Given the description of an element on the screen output the (x, y) to click on. 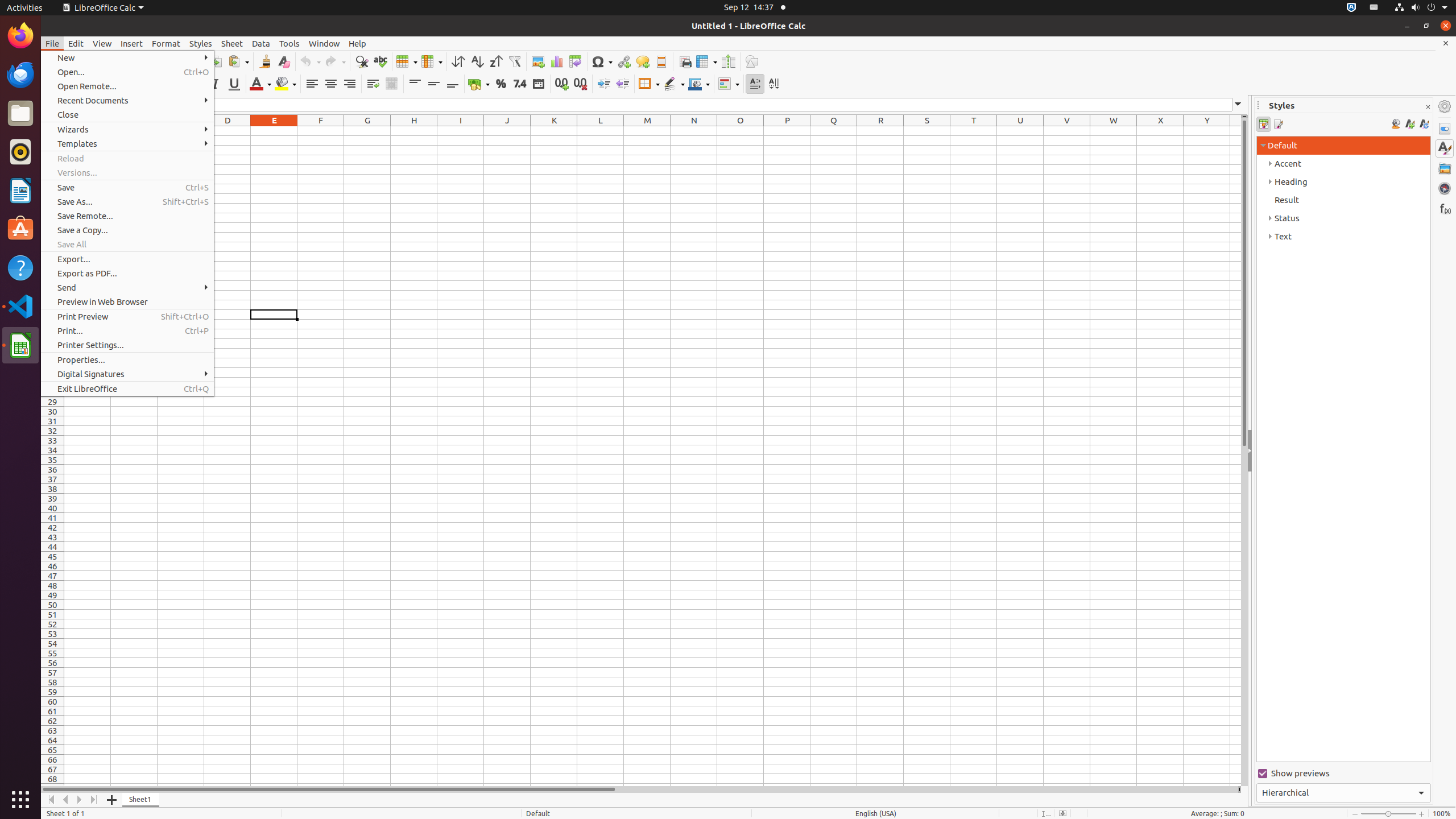
Styles Element type: menu (200, 43)
Freeze Rows and Columns Element type: push-button (705, 61)
Merge and Center Cells Element type: push-button (391, 83)
Increase Element type: push-button (603, 83)
Properties Element type: radio-button (1444, 128)
